Given the description of an element on the screen output the (x, y) to click on. 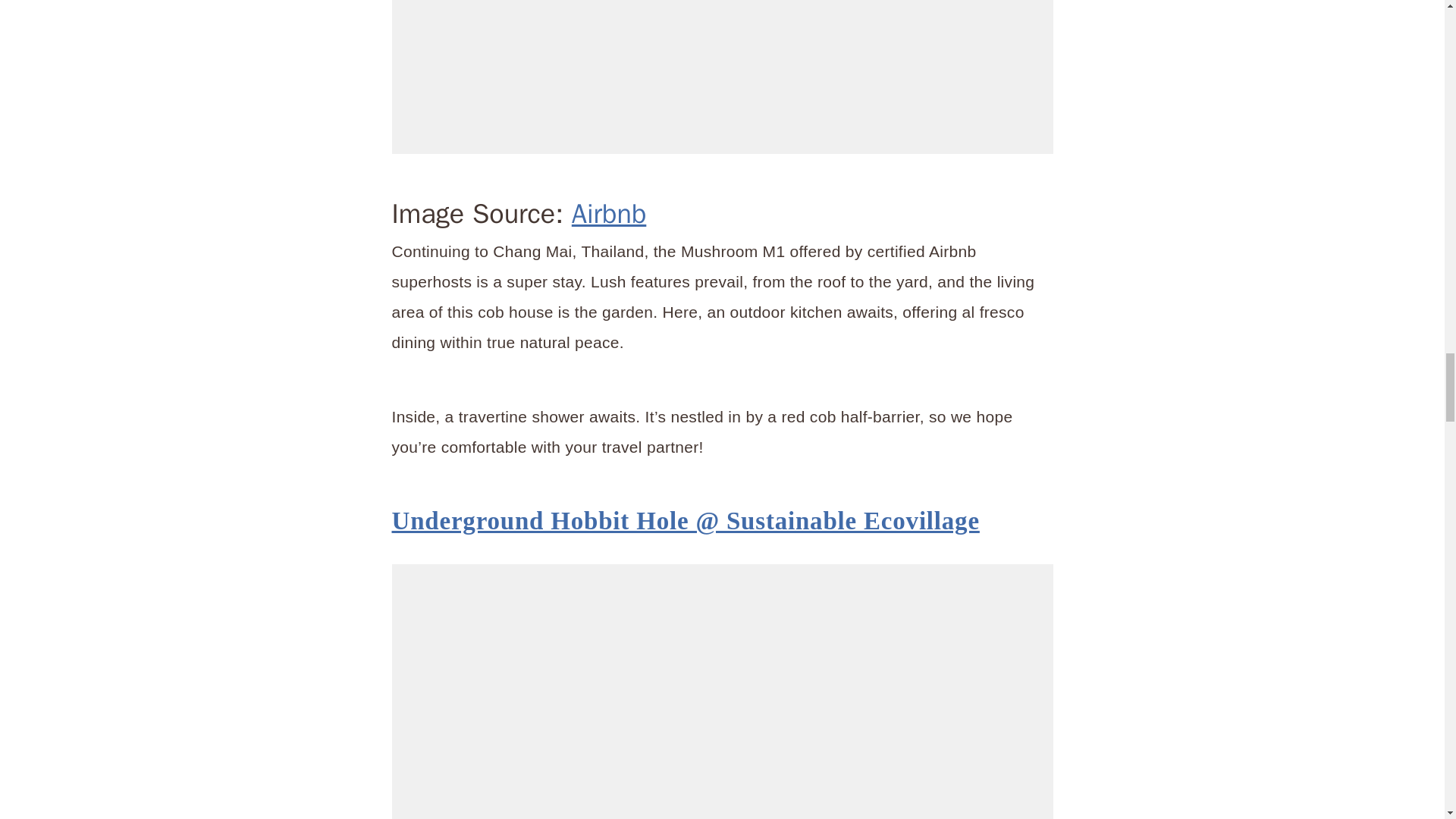
via Airbnb (721, 77)
Airbnb (609, 213)
